Given the description of an element on the screen output the (x, y) to click on. 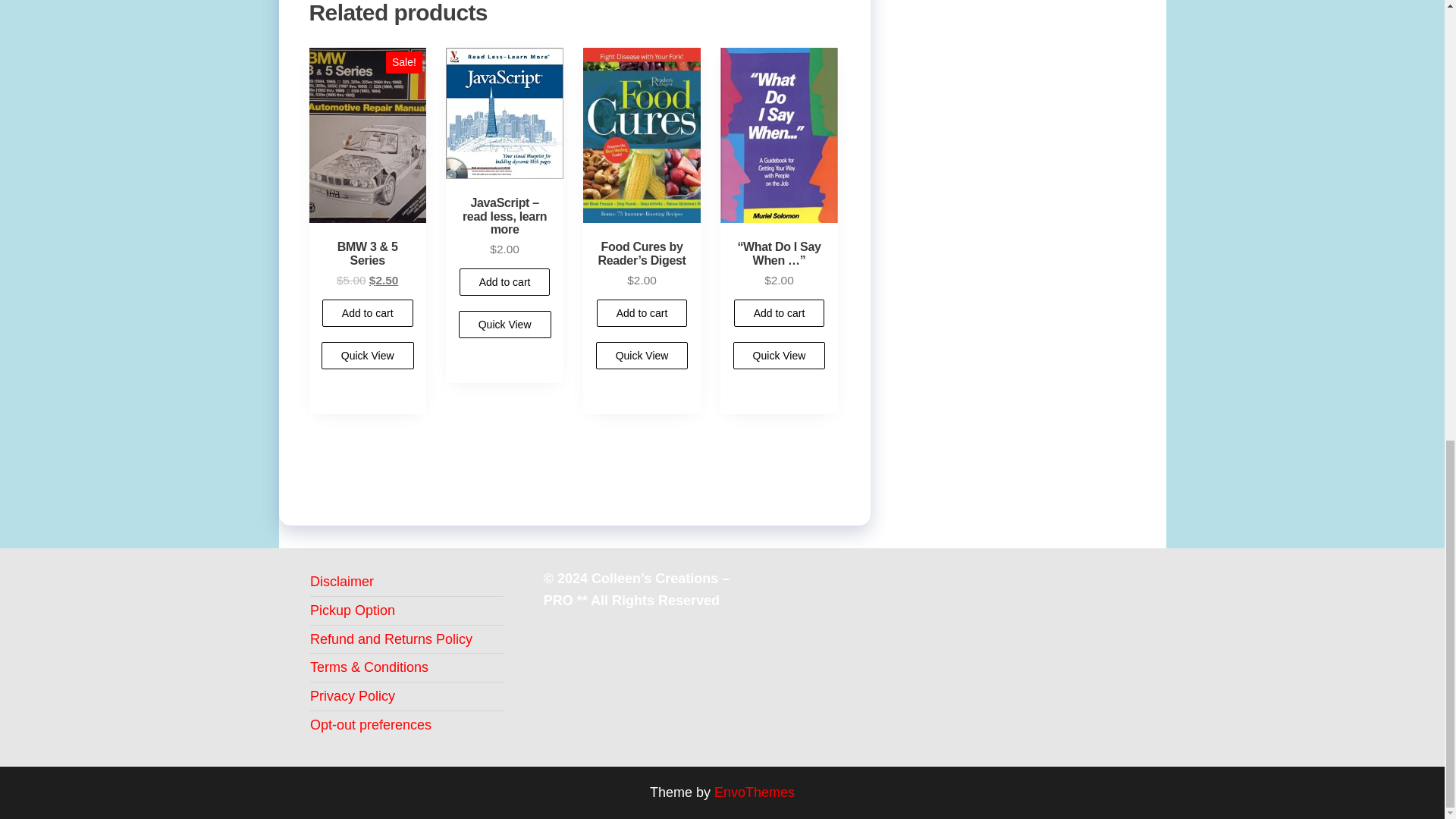
Add to cart (367, 312)
Quick View (504, 324)
Add to cart (505, 281)
Add to cart (641, 312)
Quick View (367, 355)
